Given the description of an element on the screen output the (x, y) to click on. 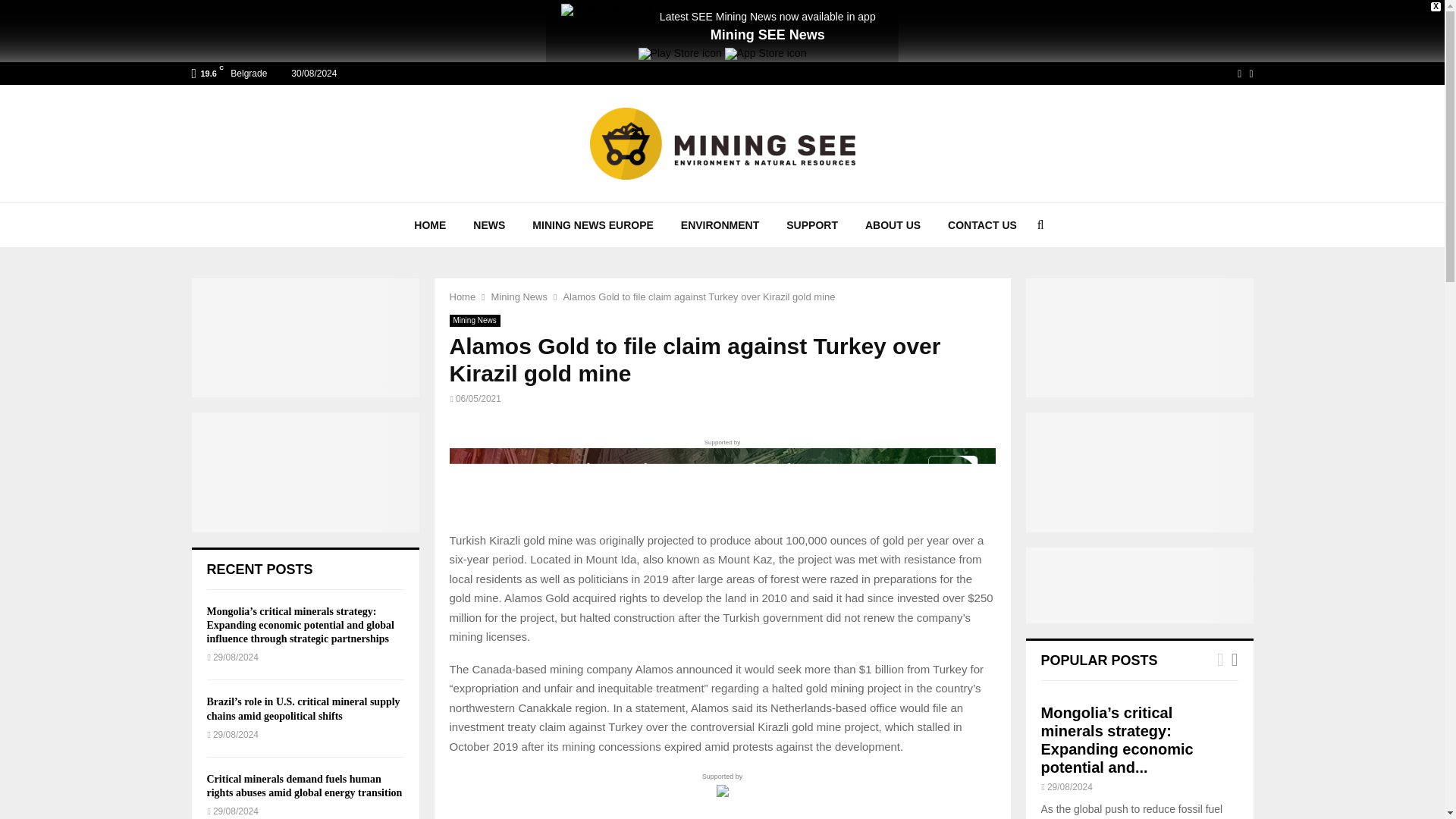
ABOUT US (892, 225)
SUPPORT (812, 225)
HOME (430, 225)
Supported by (721, 476)
Home (462, 296)
MINING NEWS EUROPE (592, 225)
Mining News (519, 296)
ENVIRONMENT (719, 225)
